Given the description of an element on the screen output the (x, y) to click on. 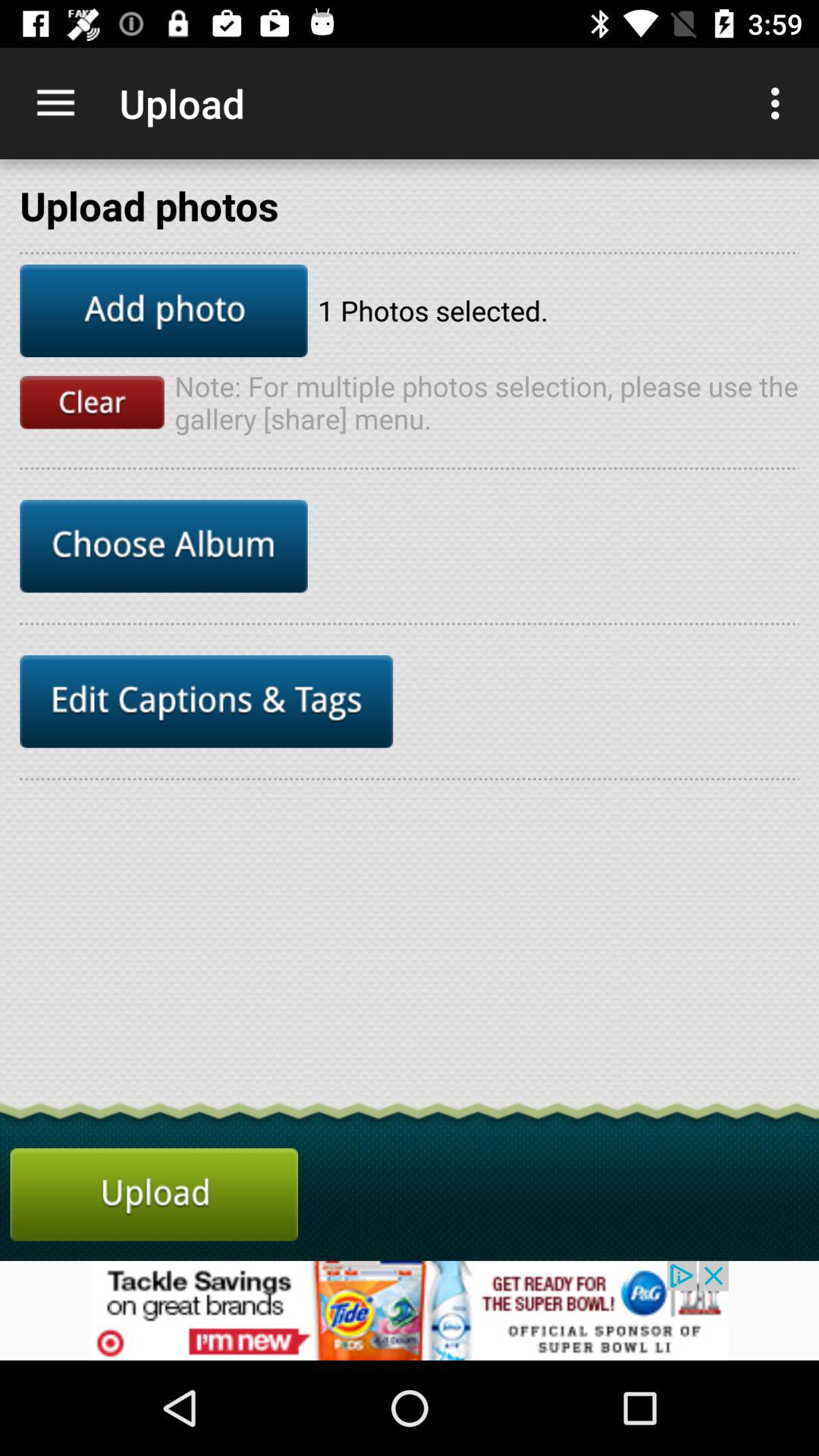
choose album (163, 545)
